Given the description of an element on the screen output the (x, y) to click on. 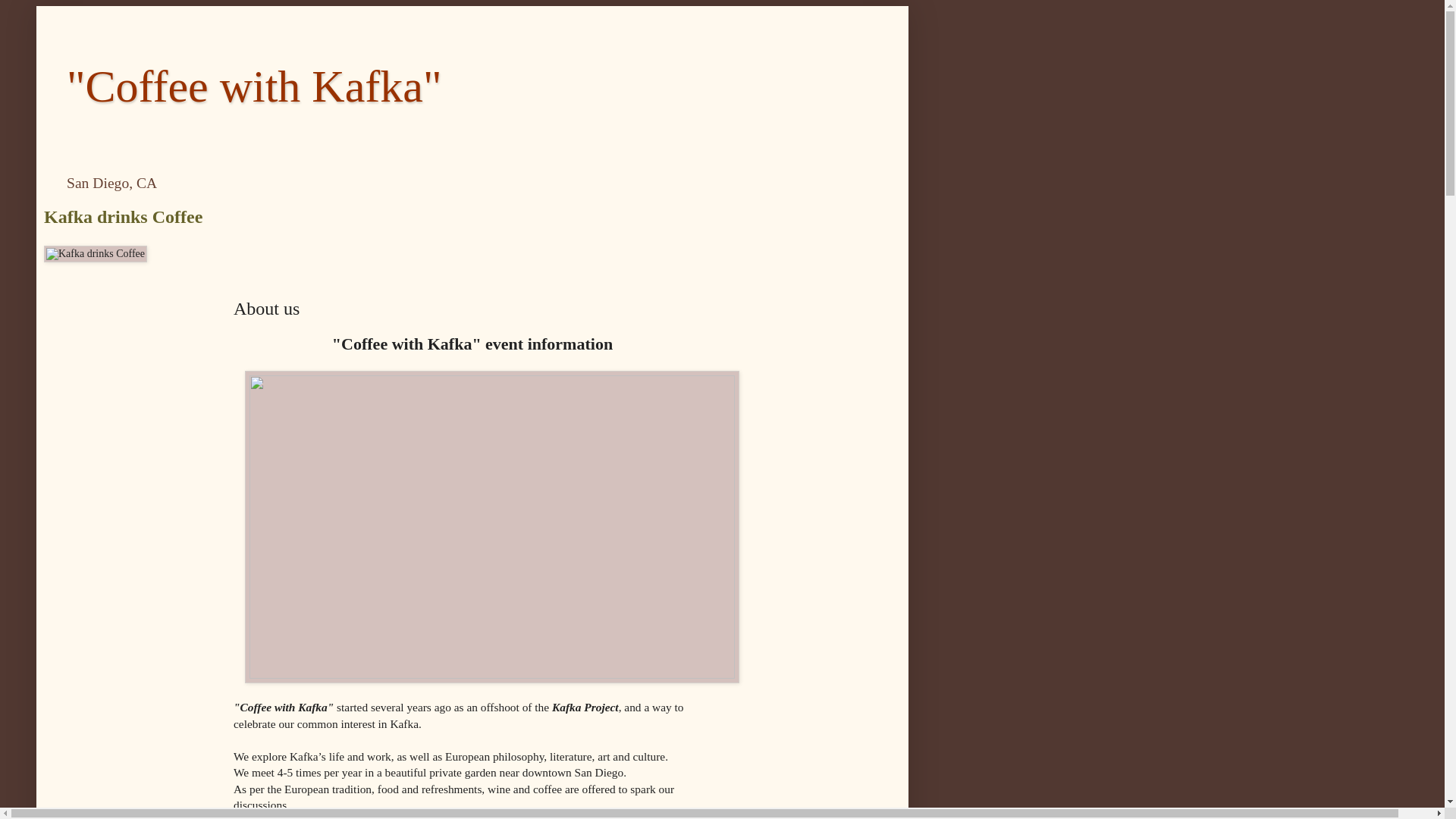
"Coffee with Kafka" (253, 86)
